Given the description of an element on the screen output the (x, y) to click on. 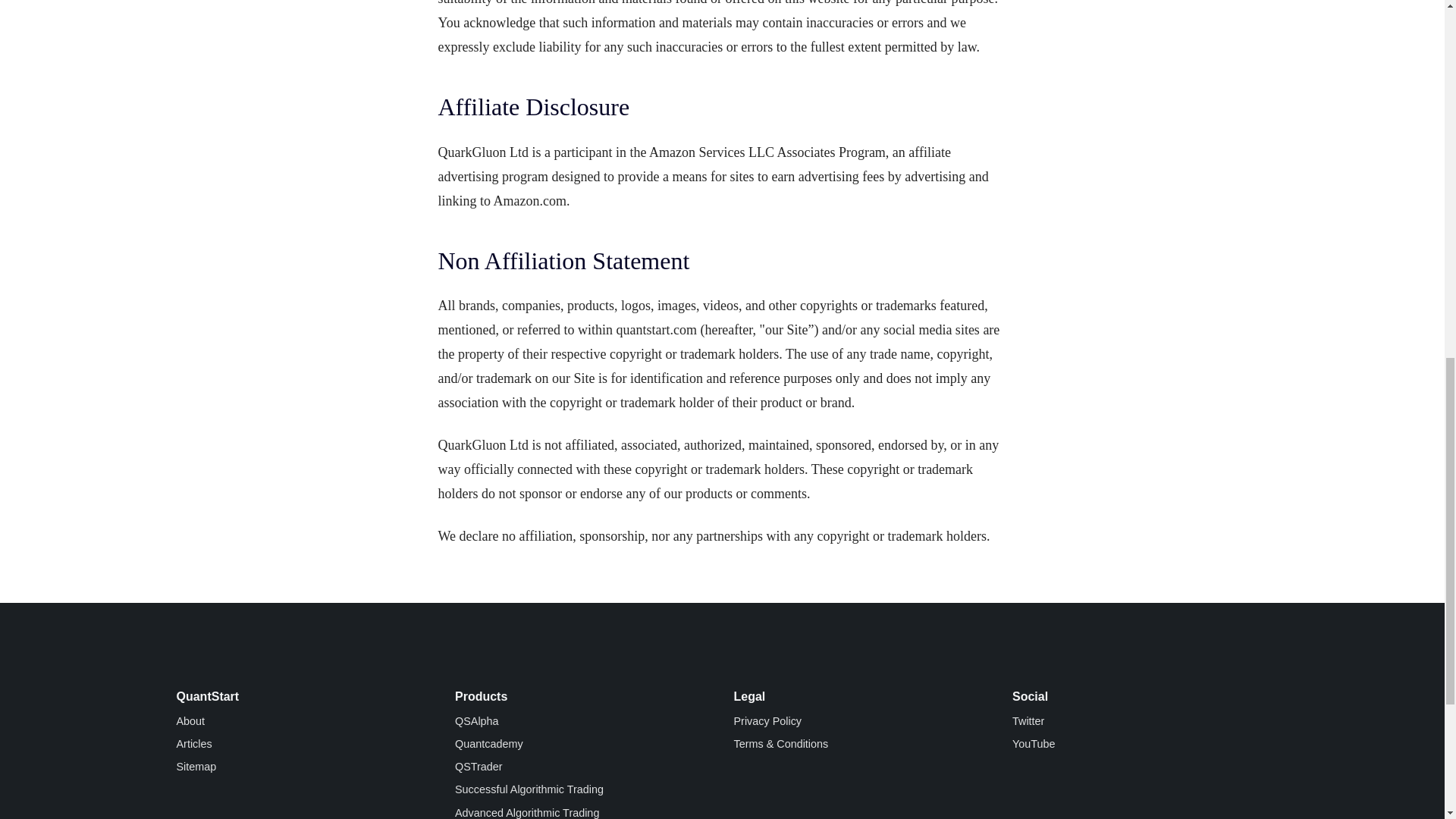
YouTube (1033, 743)
Successful Algorithmic Trading (529, 788)
Advanced Algorithmic Trading (526, 812)
Quantcademy (488, 743)
Sitemap (195, 766)
Privacy Policy (767, 720)
QSTrader (478, 766)
Twitter (1027, 720)
QSAlpha (476, 720)
About (190, 720)
Articles (193, 743)
